Given the description of an element on the screen output the (x, y) to click on. 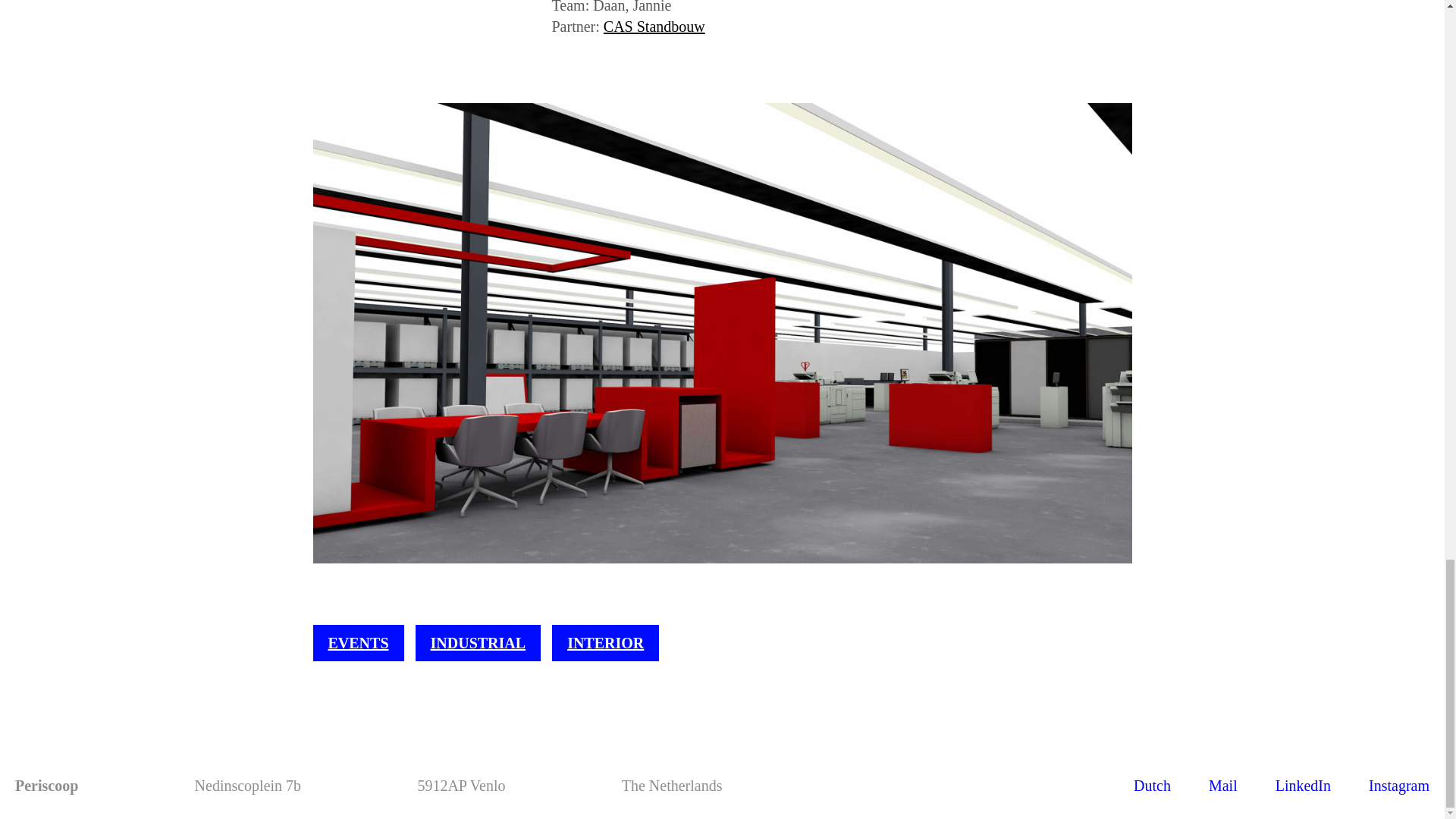
EVENTS (358, 642)
Instagram (1398, 785)
INDUSTRIAL (477, 642)
Mail (1222, 785)
Dutch (1152, 785)
INTERIOR (605, 642)
CAS Standbouw (654, 26)
LinkedIn (1302, 785)
